Given the description of an element on the screen output the (x, y) to click on. 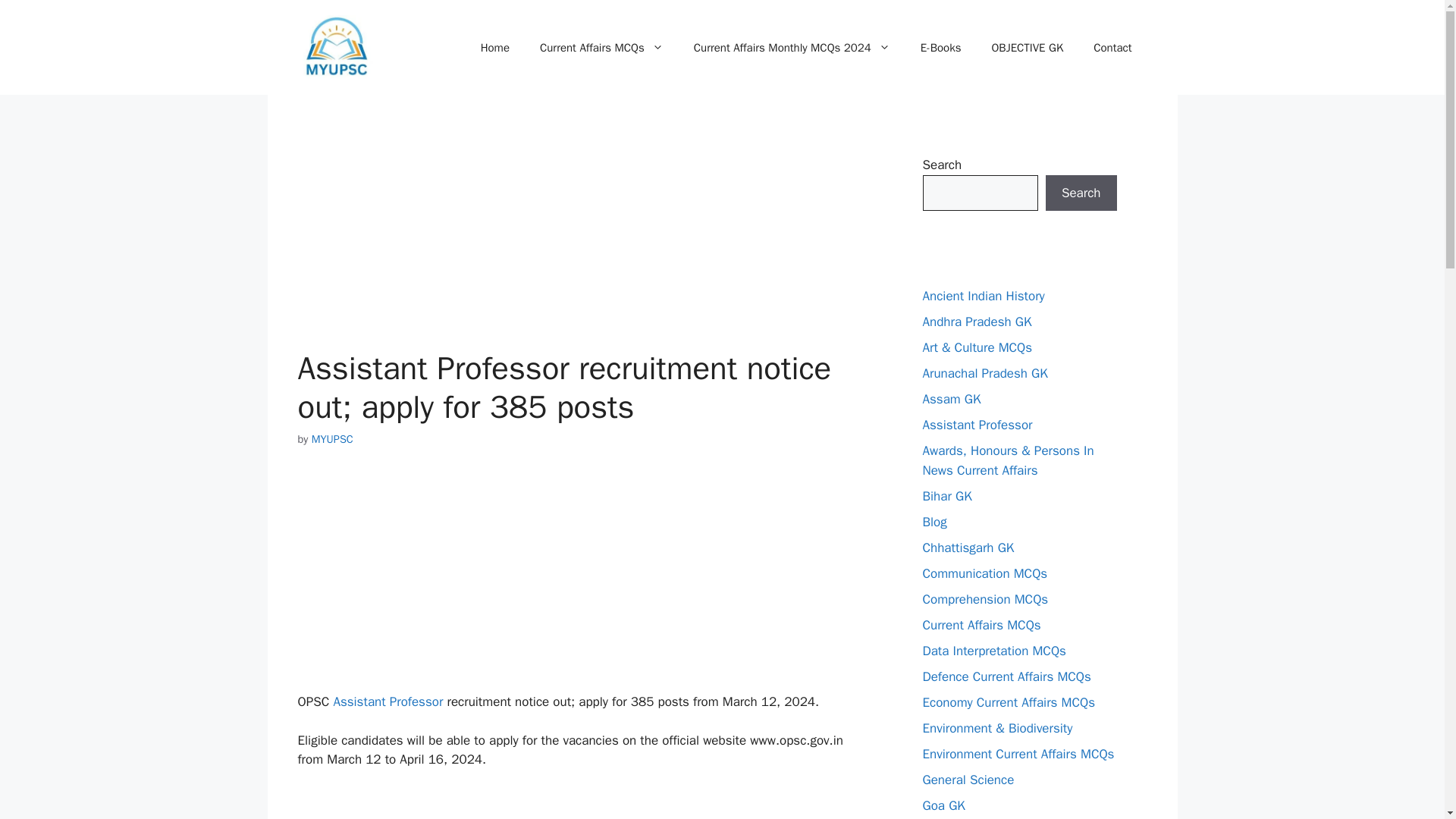
Contact (1112, 47)
Home (494, 47)
View all posts by MYUPSC (332, 438)
MYUPSC (332, 438)
Assistant Professor (387, 701)
Advertisement (579, 237)
OBJECTIVE GK (1026, 47)
E-Books (940, 47)
Advertisement (579, 803)
Current Affairs MCQs (601, 47)
Advertisement (579, 580)
Current Affairs Monthly MCQs 2024 (791, 47)
